Given the description of an element on the screen output the (x, y) to click on. 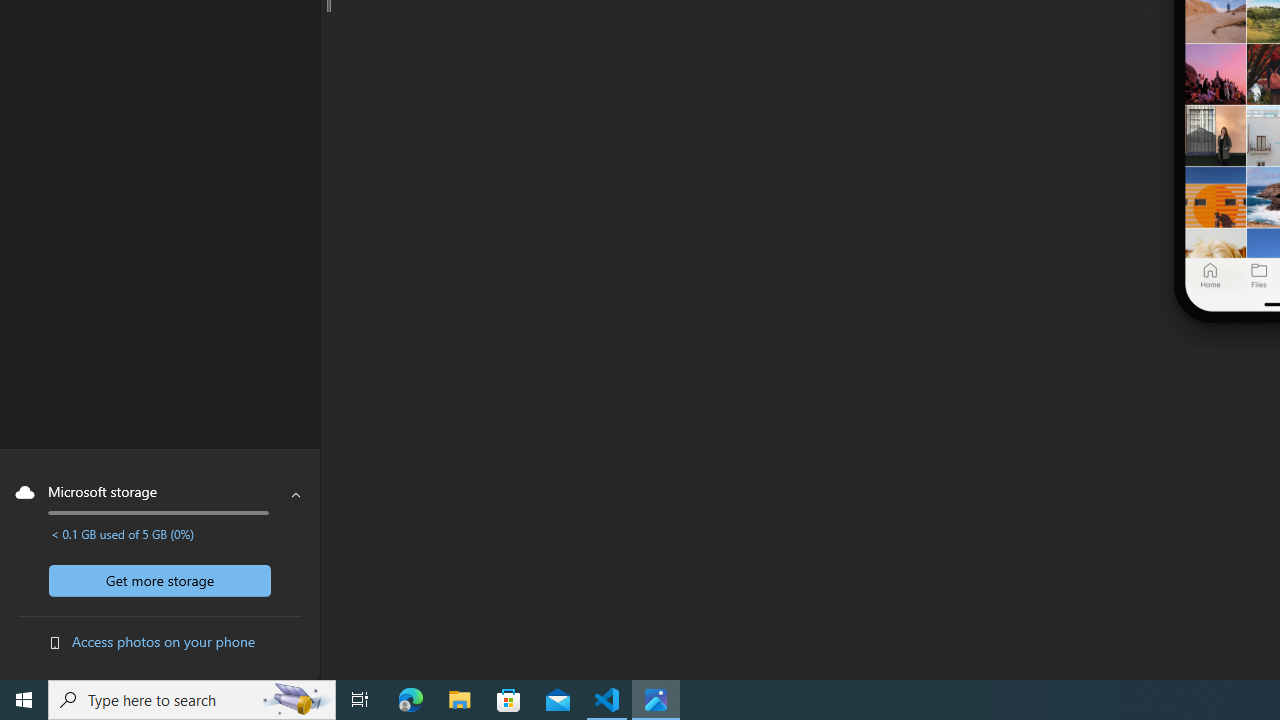
Get more storage (159, 580)
Start (24, 699)
< 0.1 GB used of 5 GB (0%) (122, 533)
Microsoft Edge (411, 699)
Microsoft Store (509, 699)
File Explorer (460, 699)
Search highlights icon opens search home window (295, 699)
Access photos on your phone (163, 641)
Photos - 1 running window (656, 699)
Task View (359, 699)
Type here to search (191, 699)
Visual Studio Code - 1 running window (607, 699)
